Given the description of an element on the screen output the (x, y) to click on. 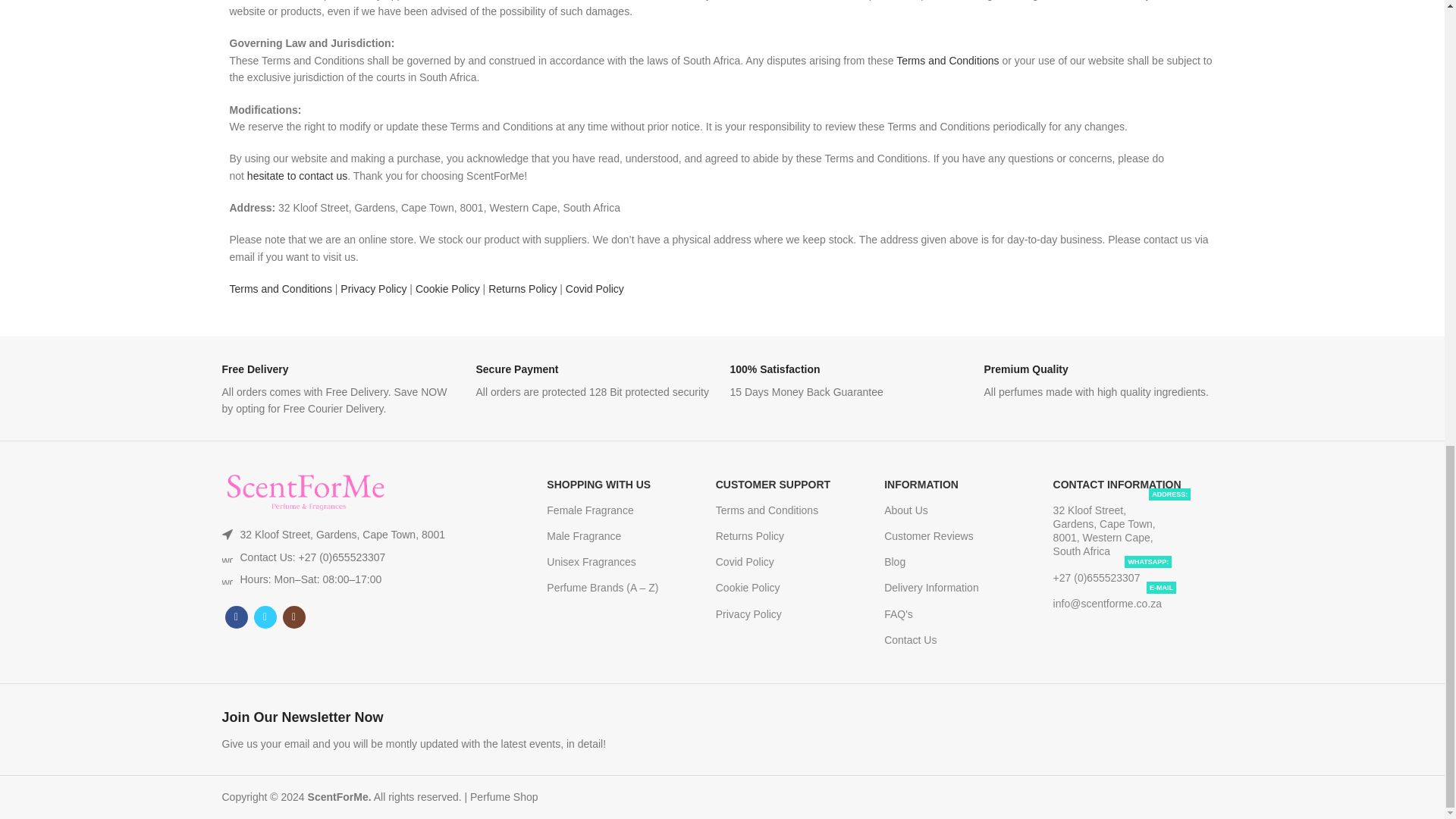
wd-cursor-dark (226, 534)
wd-phone-dark (226, 557)
wd-envelope-dark (226, 579)
